Given the description of an element on the screen output the (x, y) to click on. 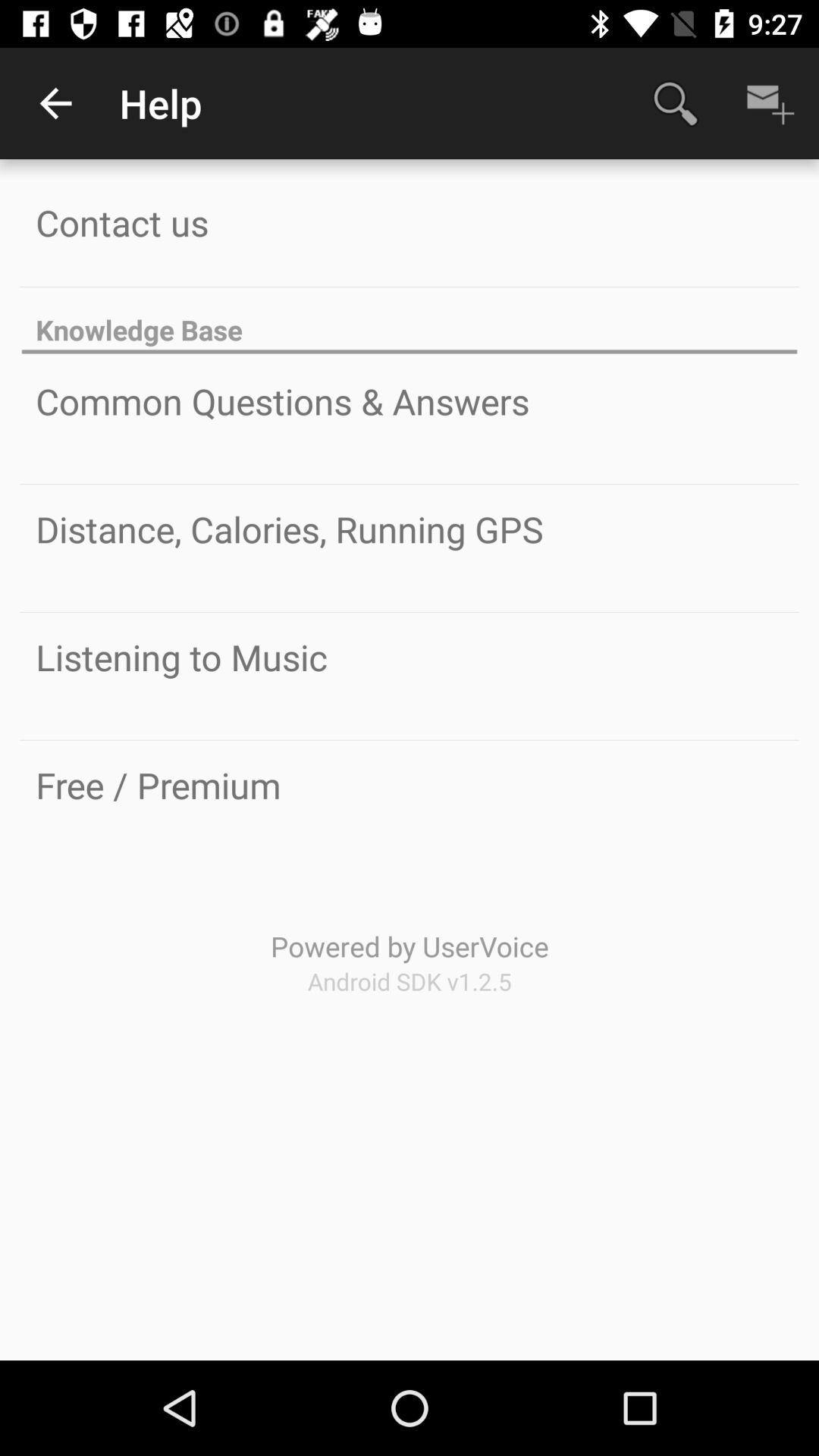
choose common questions & answers icon (282, 401)
